Given the description of an element on the screen output the (x, y) to click on. 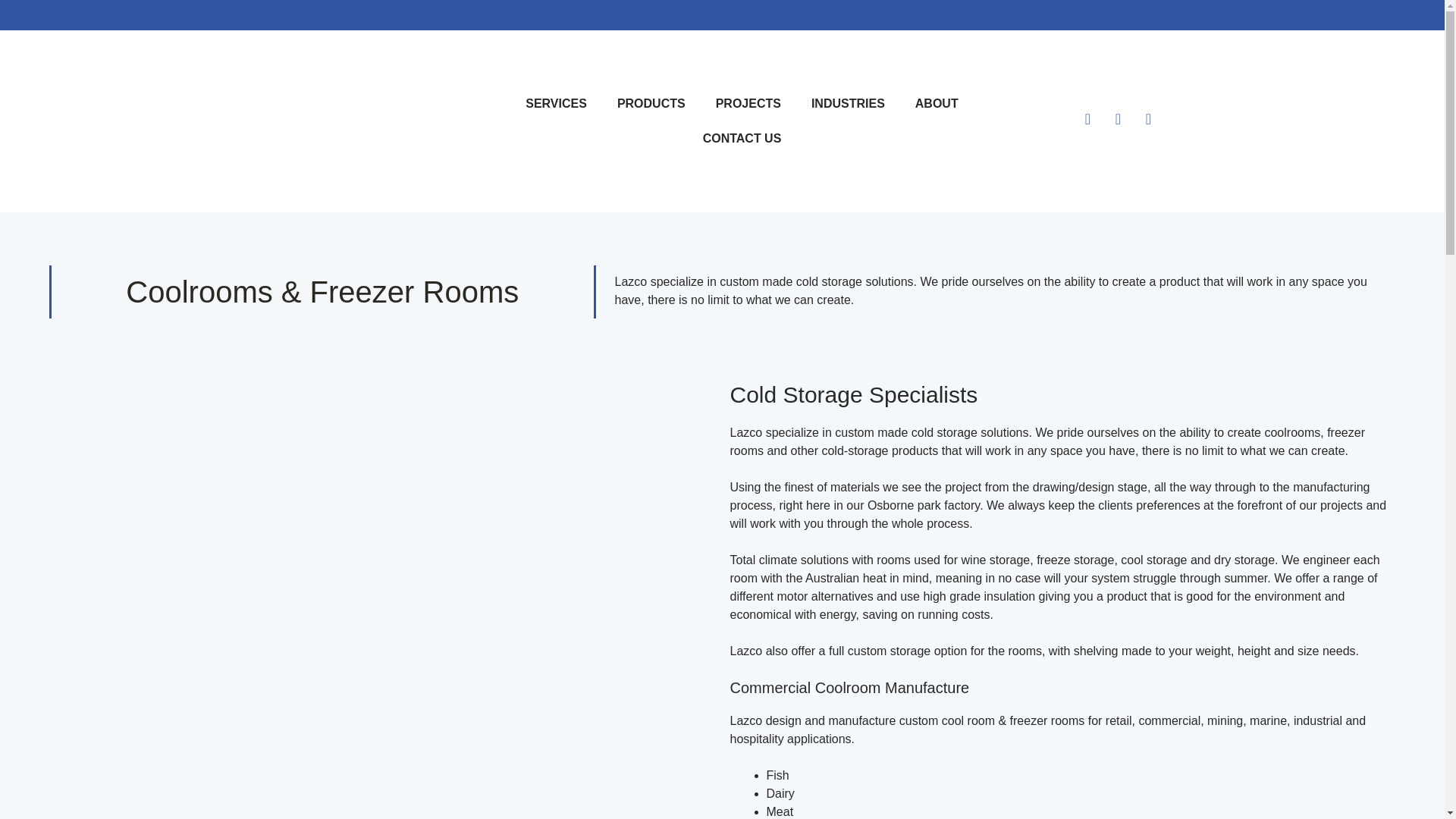
CONTACT US (741, 138)
SERVICES (556, 103)
ABOUT (936, 103)
PROJECTS (748, 103)
INDUSTRIES (847, 103)
PRODUCTS (651, 103)
